Given the description of an element on the screen output the (x, y) to click on. 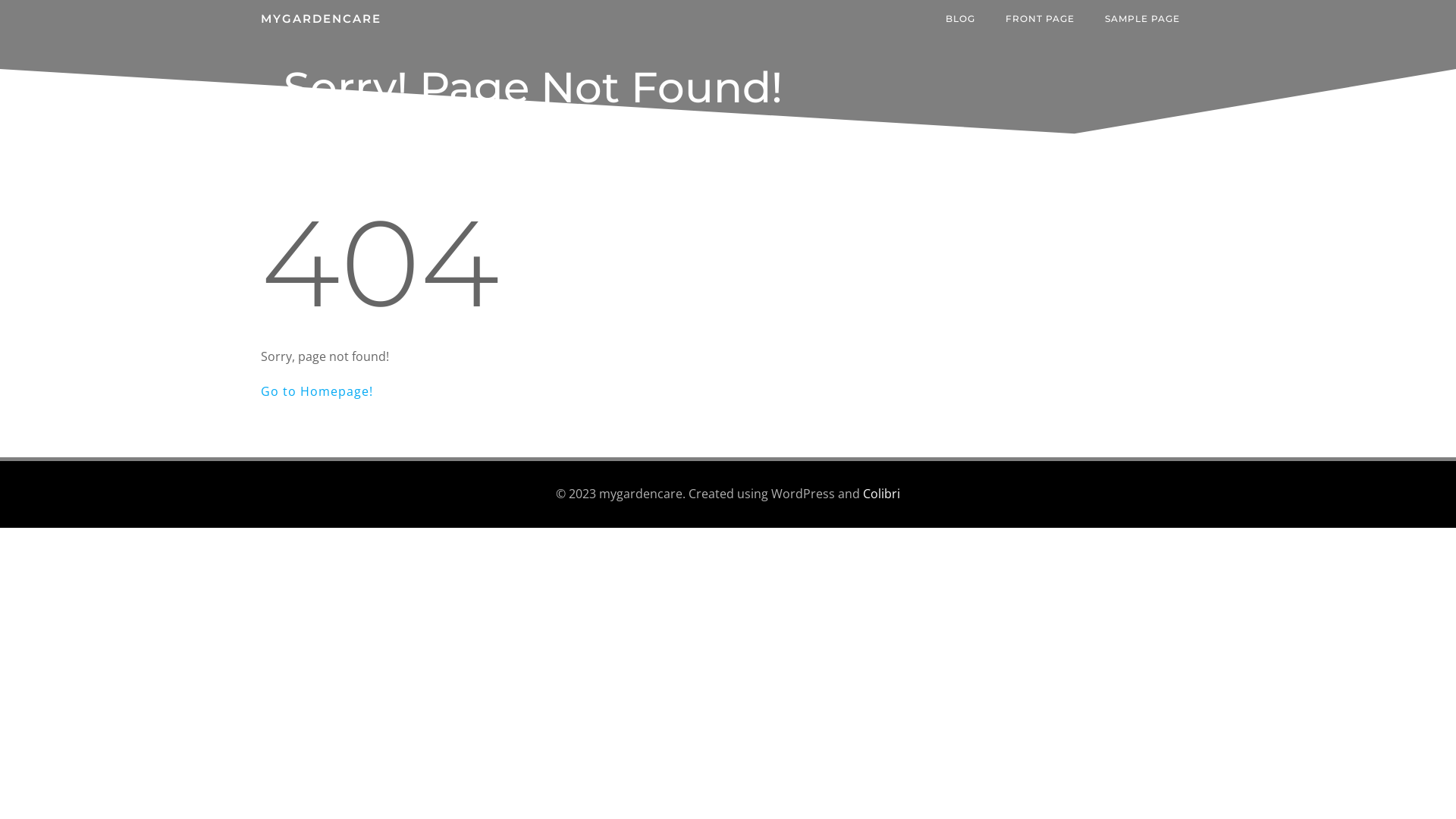
FRONT PAGE Element type: text (1039, 18)
BLOG Element type: text (960, 18)
Go to Homepage! Element type: text (316, 391)
SAMPLE PAGE Element type: text (1141, 18)
MYGARDENCARE Element type: text (320, 19)
Colibri Element type: text (881, 493)
